Given the description of an element on the screen output the (x, y) to click on. 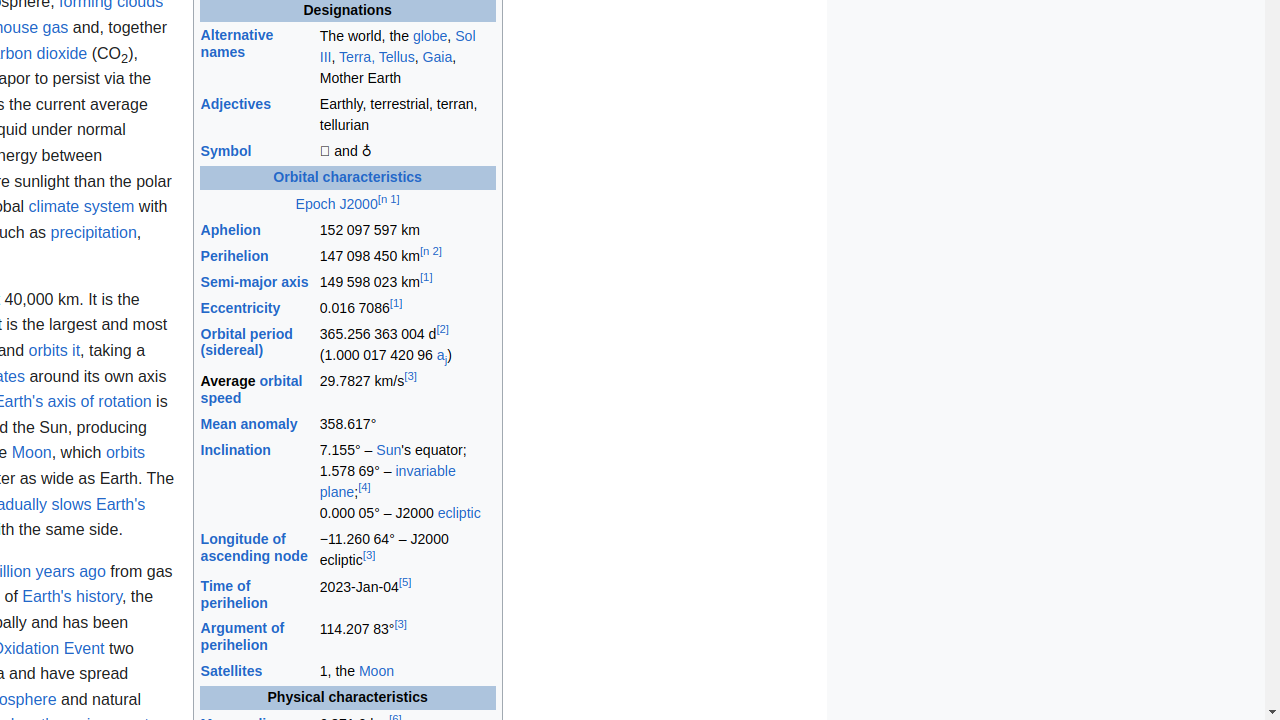
[n 1] Element type: link (388, 198)
358.617° Element type: table-cell (407, 423)
Sun Element type: link (389, 449)
Argument of perihelion Element type: link (242, 637)
Orbital characteristics Element type: link (347, 177)
